Given the description of an element on the screen output the (x, y) to click on. 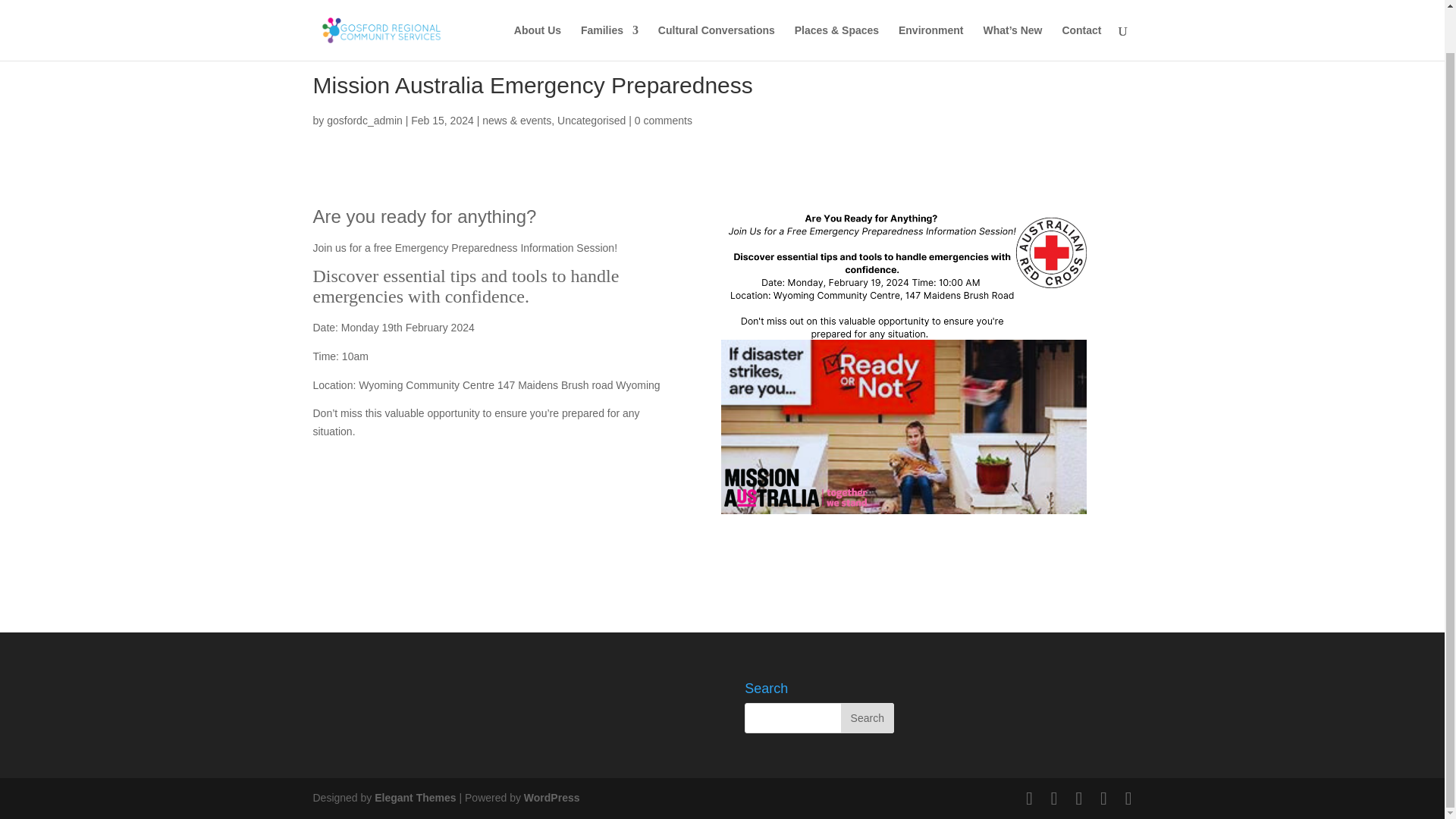
Contact (1080, 7)
About Us (536, 7)
Environment (930, 7)
Elegant Themes (414, 797)
Emergency-Prepardness-Promo (903, 361)
Cultural Conversations (716, 7)
Search (867, 717)
Premium WordPress Themes (414, 797)
Uncategorised (591, 120)
0 comments (663, 120)
Families (609, 7)
Search (867, 717)
WordPress (551, 797)
